Given the description of an element on the screen output the (x, y) to click on. 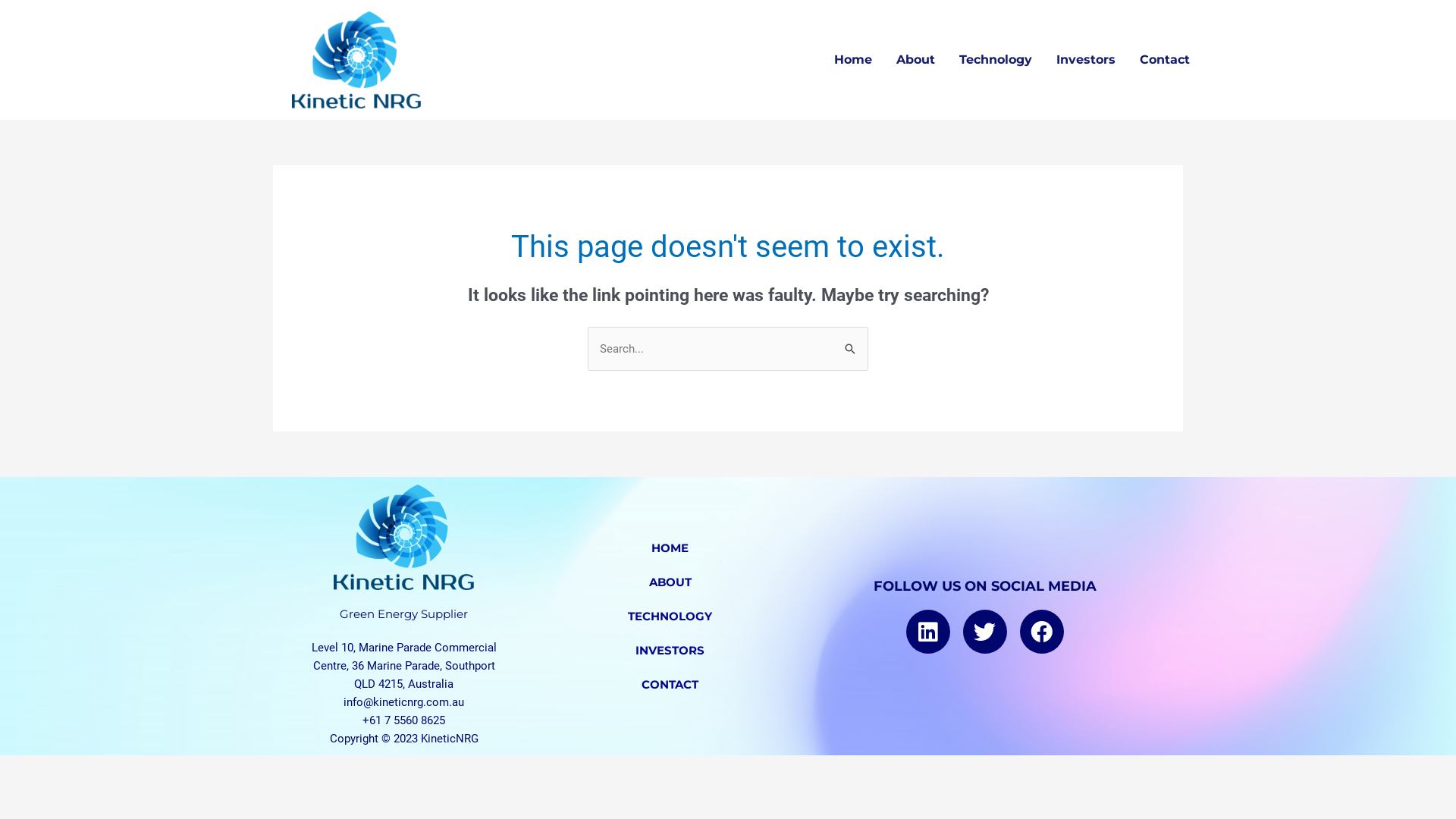
TECHNOLOGY Element type: text (669, 616)
Linkedin Element type: text (928, 631)
Twitter Element type: text (985, 631)
Search Element type: text (851, 341)
Home Element type: text (853, 59)
Contact Element type: text (1164, 59)
Technology Element type: text (995, 59)
Facebook Element type: text (1041, 631)
ABOUT Element type: text (669, 581)
About Element type: text (915, 59)
Investors Element type: text (1085, 59)
CONTACT Element type: text (669, 684)
HOME Element type: text (669, 547)
INVESTORS Element type: text (669, 650)
